Given the description of an element on the screen output the (x, y) to click on. 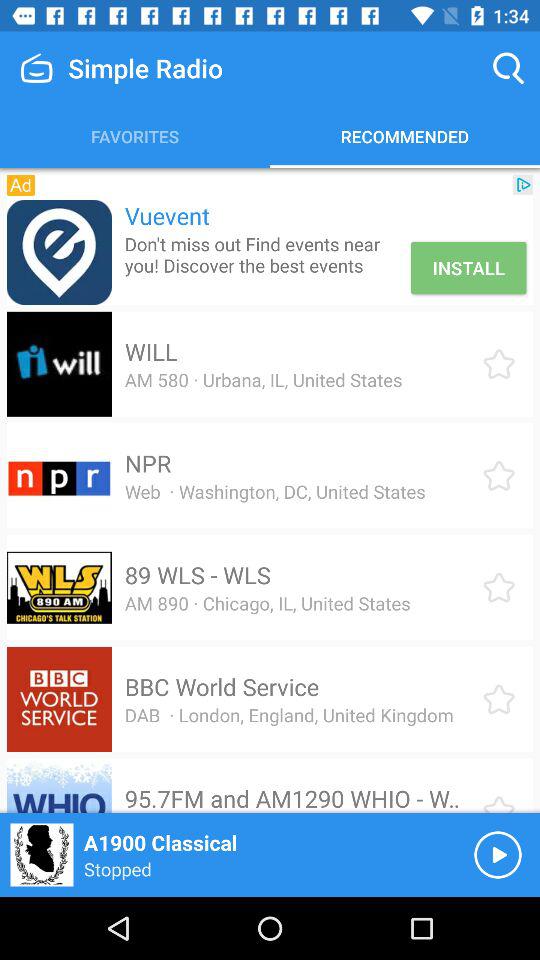
advertisement icon (58, 251)
